Given the description of an element on the screen output the (x, y) to click on. 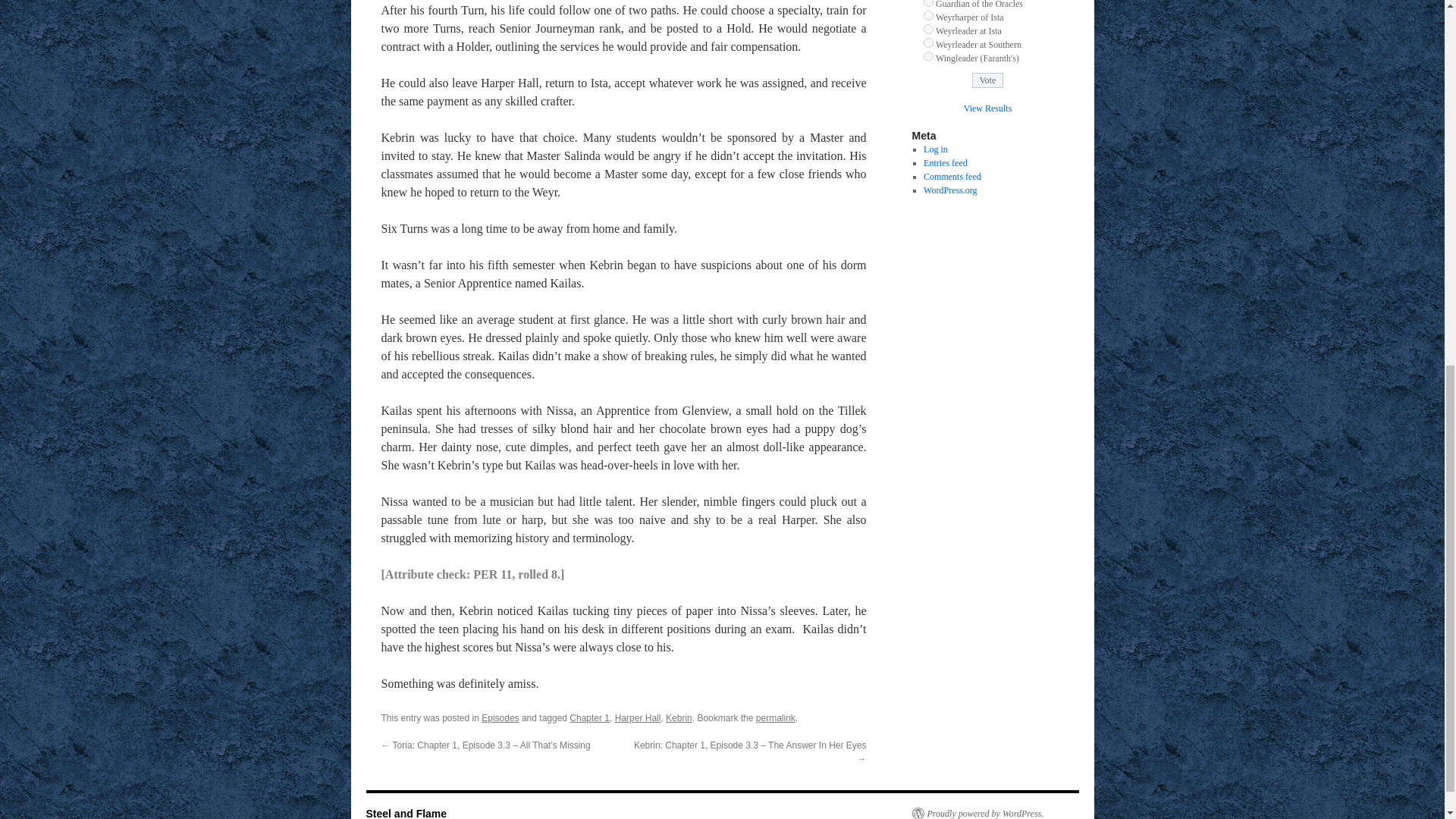
164 (928, 15)
163 (928, 3)
166 (928, 42)
   Vote    (988, 79)
165 (928, 29)
167 (928, 56)
